Given the description of an element on the screen output the (x, y) to click on. 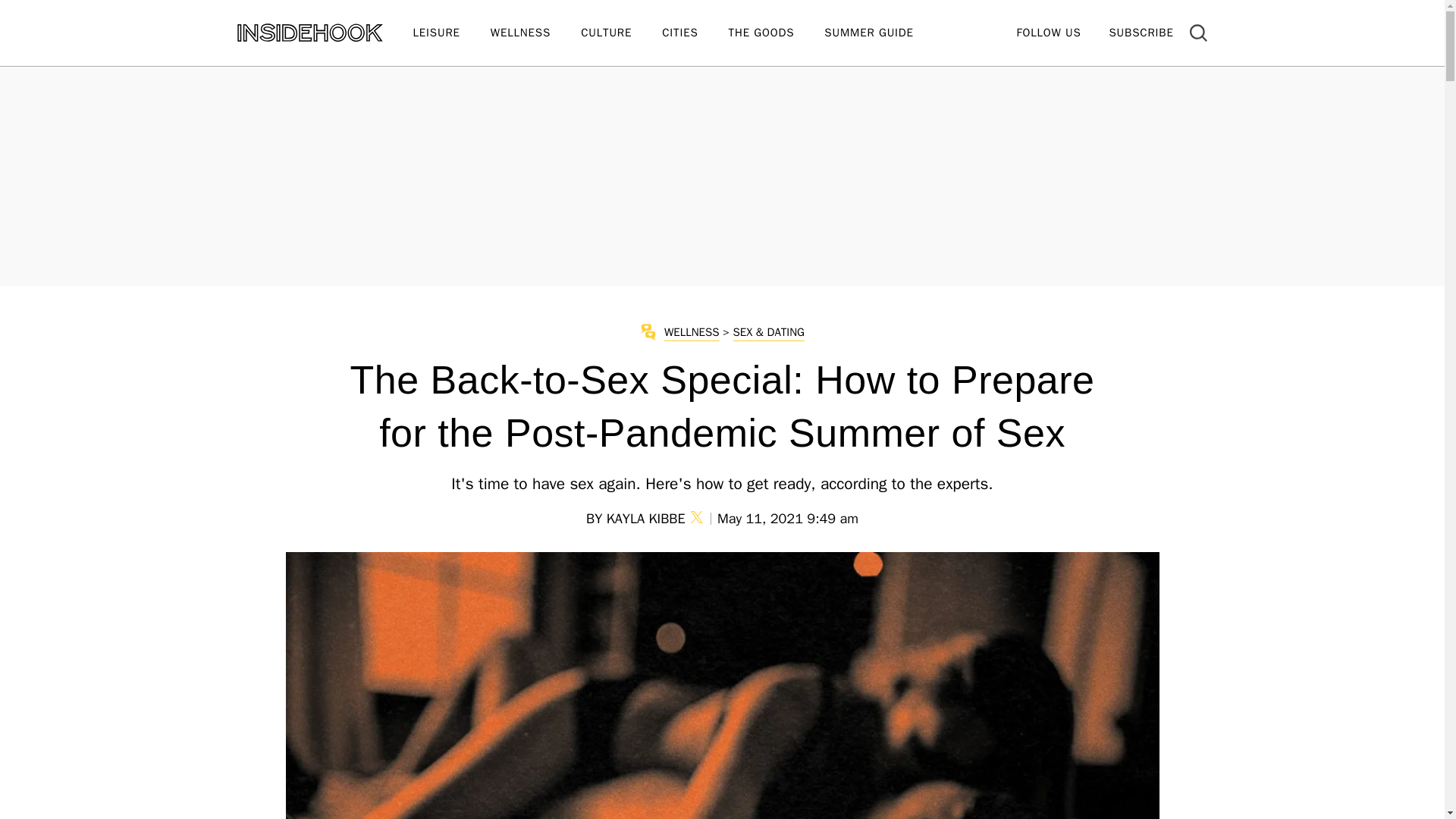
FOLLOW US (1048, 32)
SUMMER GUIDE (883, 32)
SUBSCRIBE (1140, 32)
CULTURE (621, 32)
WELLNESS (535, 32)
THE GOODS (777, 32)
CITIES (695, 32)
LEISURE (450, 32)
